Given the description of an element on the screen output the (x, y) to click on. 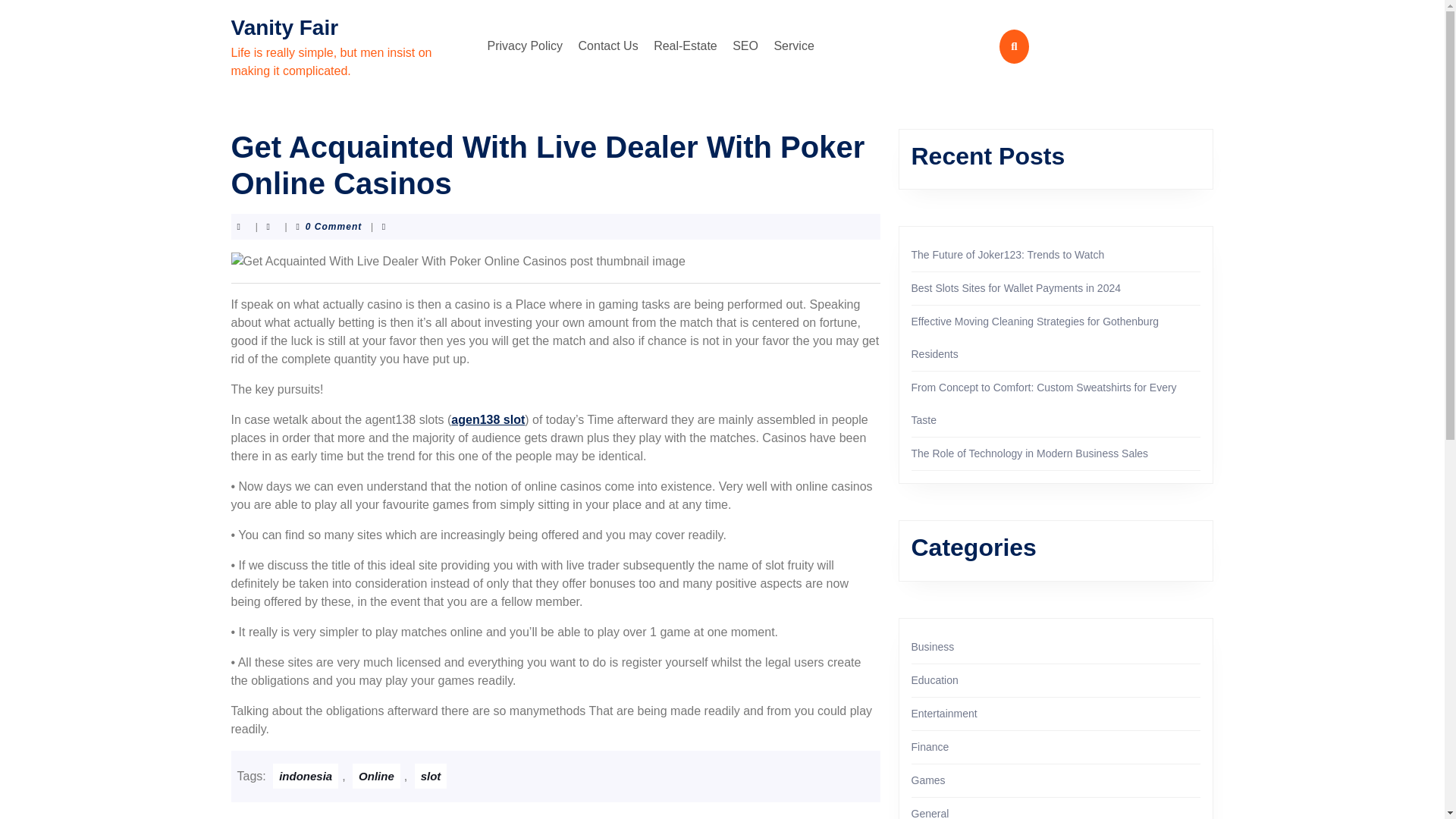
SEO (745, 46)
Entertainment (943, 713)
Privacy Policy (524, 46)
Vanity Fair (283, 27)
slot (430, 775)
Service (793, 46)
The Role of Technology in Modern Business Sales (1029, 453)
Best Slots Sites for Wallet Payments in 2024 (1016, 287)
agen138 slot (487, 419)
